Given the description of an element on the screen output the (x, y) to click on. 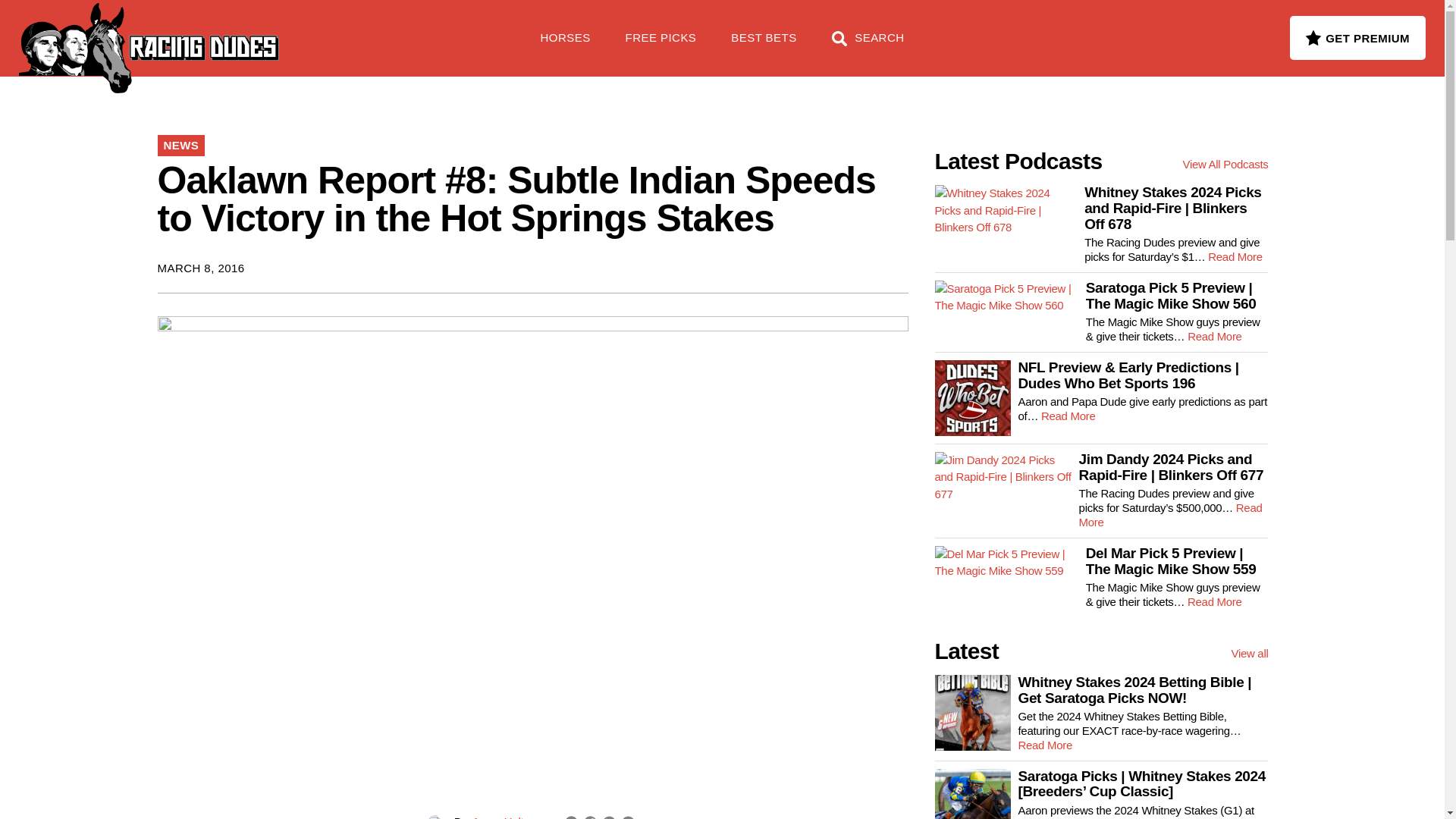
HORSES (565, 45)
Posts by Aaron Halterman (512, 816)
FREE PICKS (661, 45)
FREE PICKS (245, 29)
PODCASTS (354, 29)
GET PREMIUM (1357, 37)
BEST BETS (763, 45)
 SEARCH (867, 45)
